Given the description of an element on the screen output the (x, y) to click on. 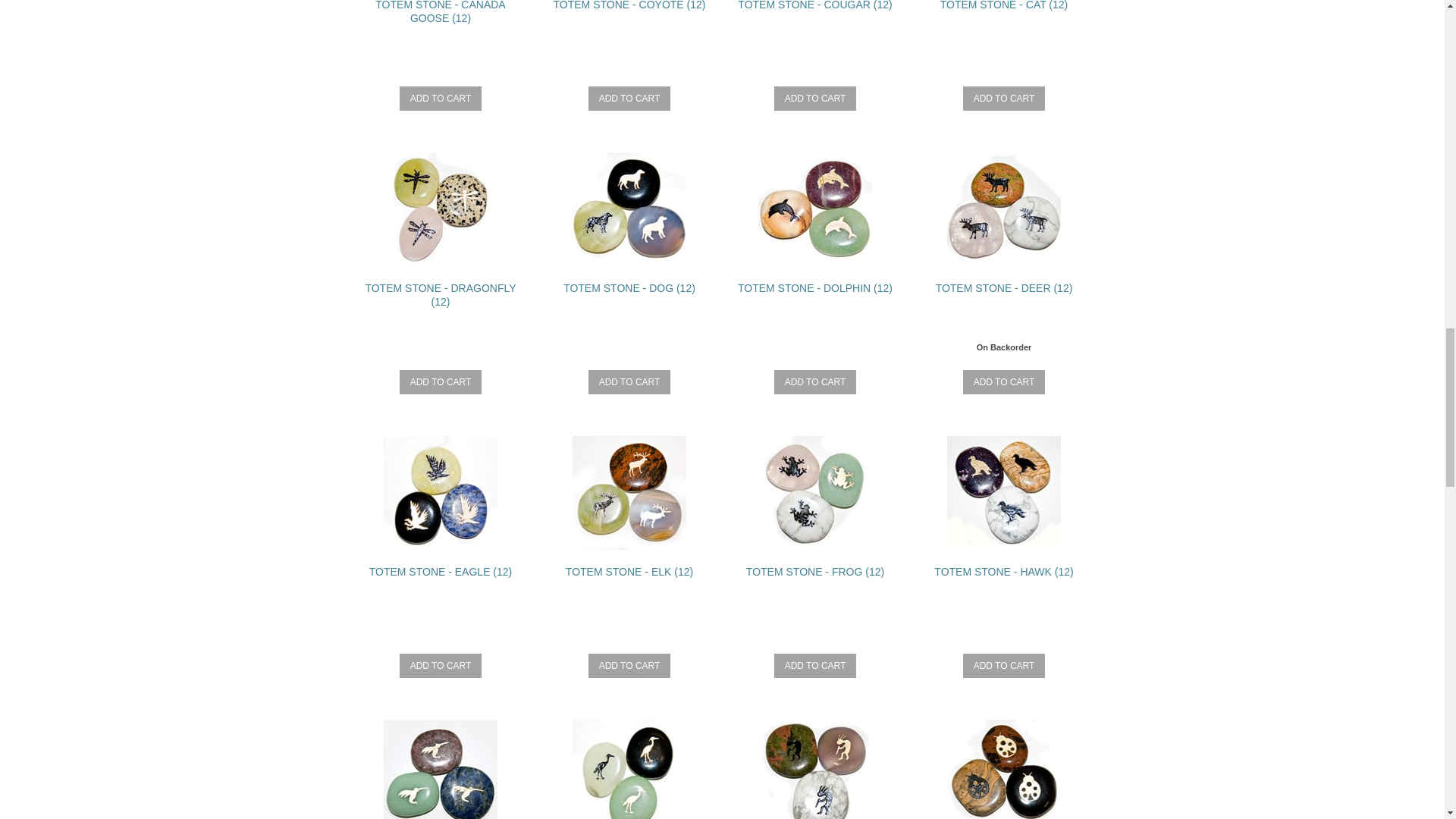
Add To Cart (1003, 381)
Add To Cart (439, 381)
Add To Cart (629, 665)
Add To Cart (815, 381)
Add To Cart (439, 98)
Add To Cart (815, 98)
Add To Cart (629, 381)
Add To Cart (1003, 98)
Add To Cart (629, 98)
Add To Cart (439, 665)
